Given the description of an element on the screen output the (x, y) to click on. 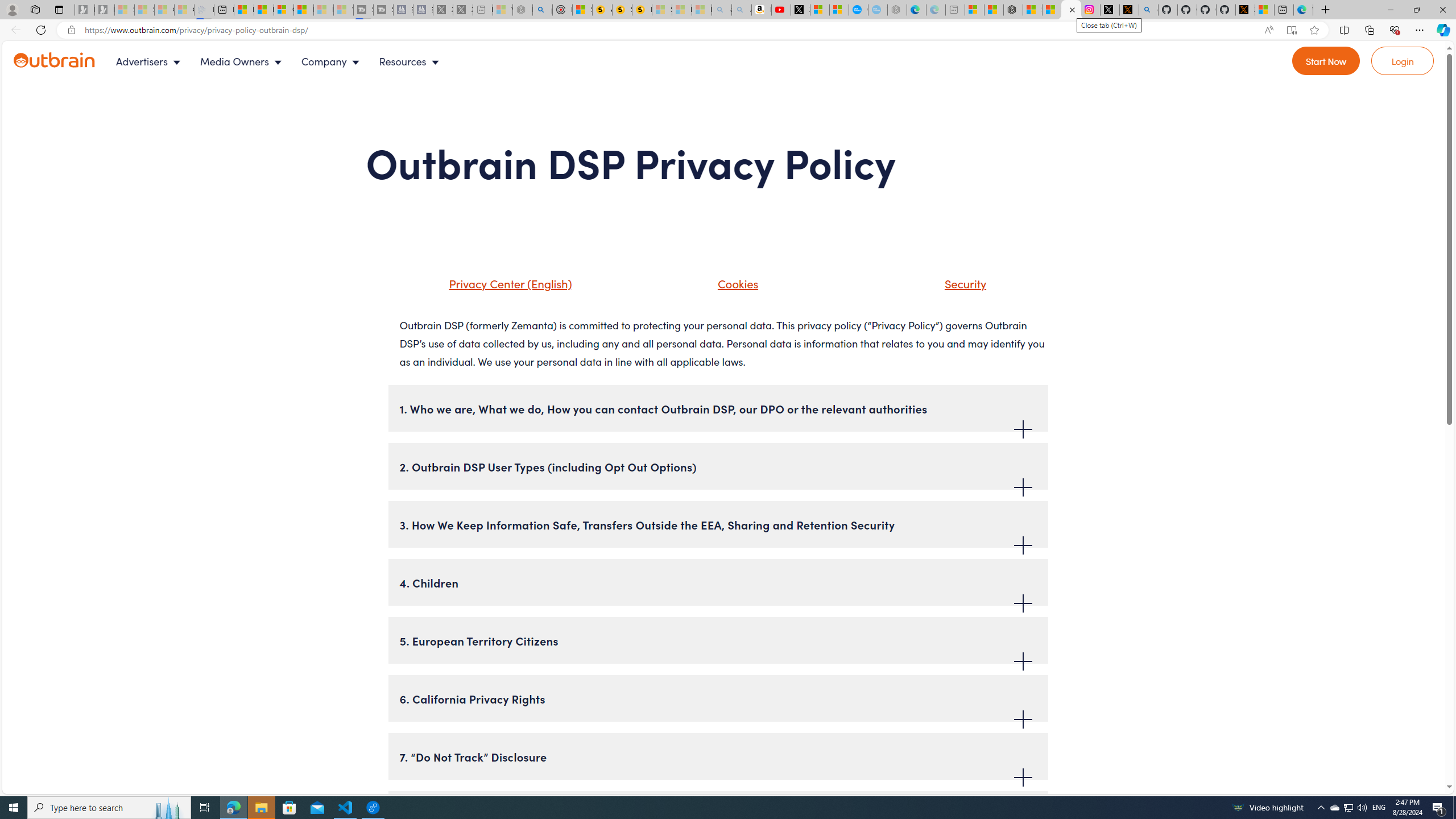
5. European Territory Citizens (717, 639)
Amazon Echo Dot PNG - Search Images - Sleeping (741, 9)
poe - Search (542, 9)
Nordace - Duffels (1012, 9)
Overview (283, 9)
Enter Immersive Reader (F9) (1291, 29)
